Given the description of an element on the screen output the (x, y) to click on. 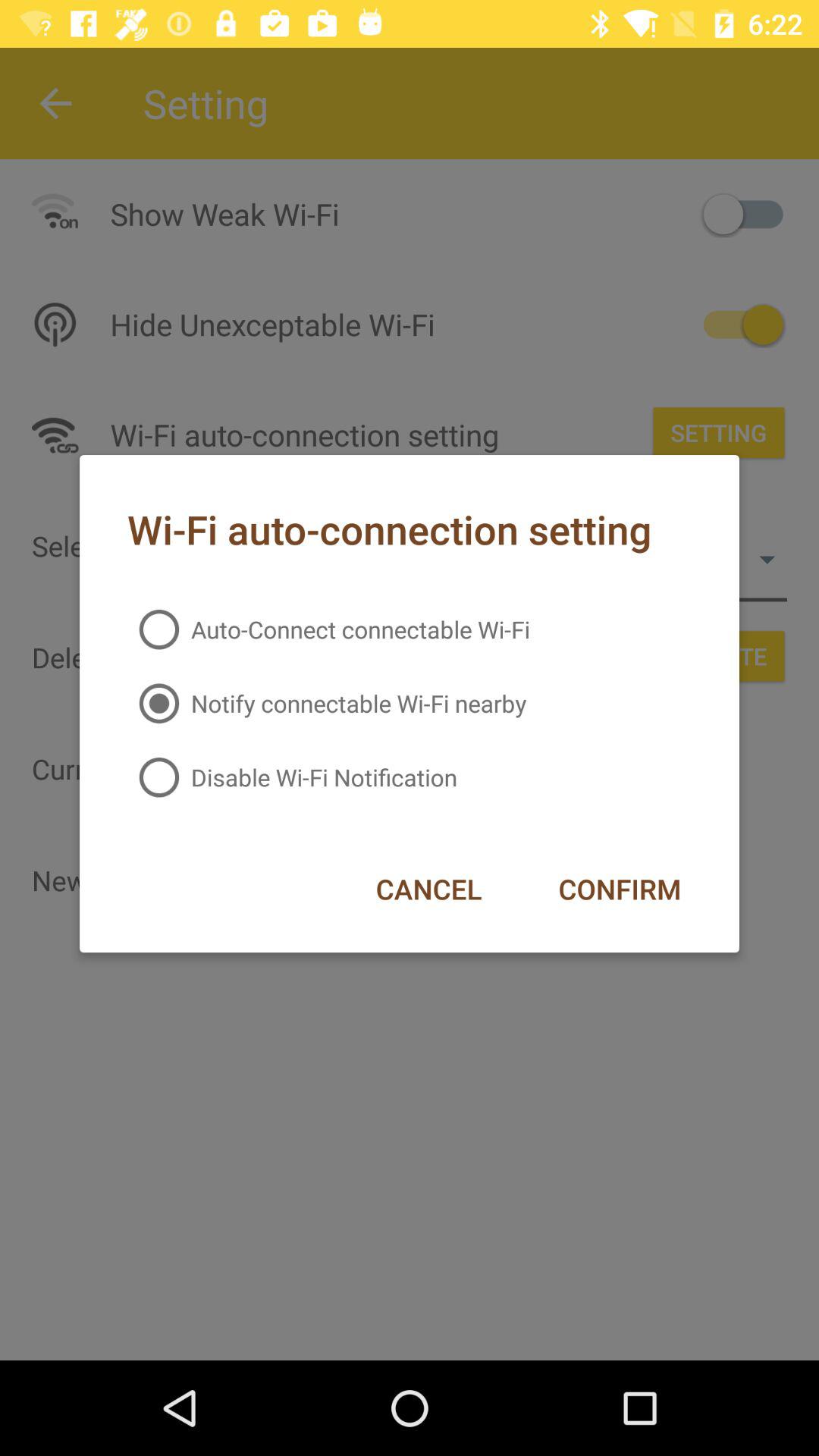
swipe to the cancel (428, 888)
